Given the description of an element on the screen output the (x, y) to click on. 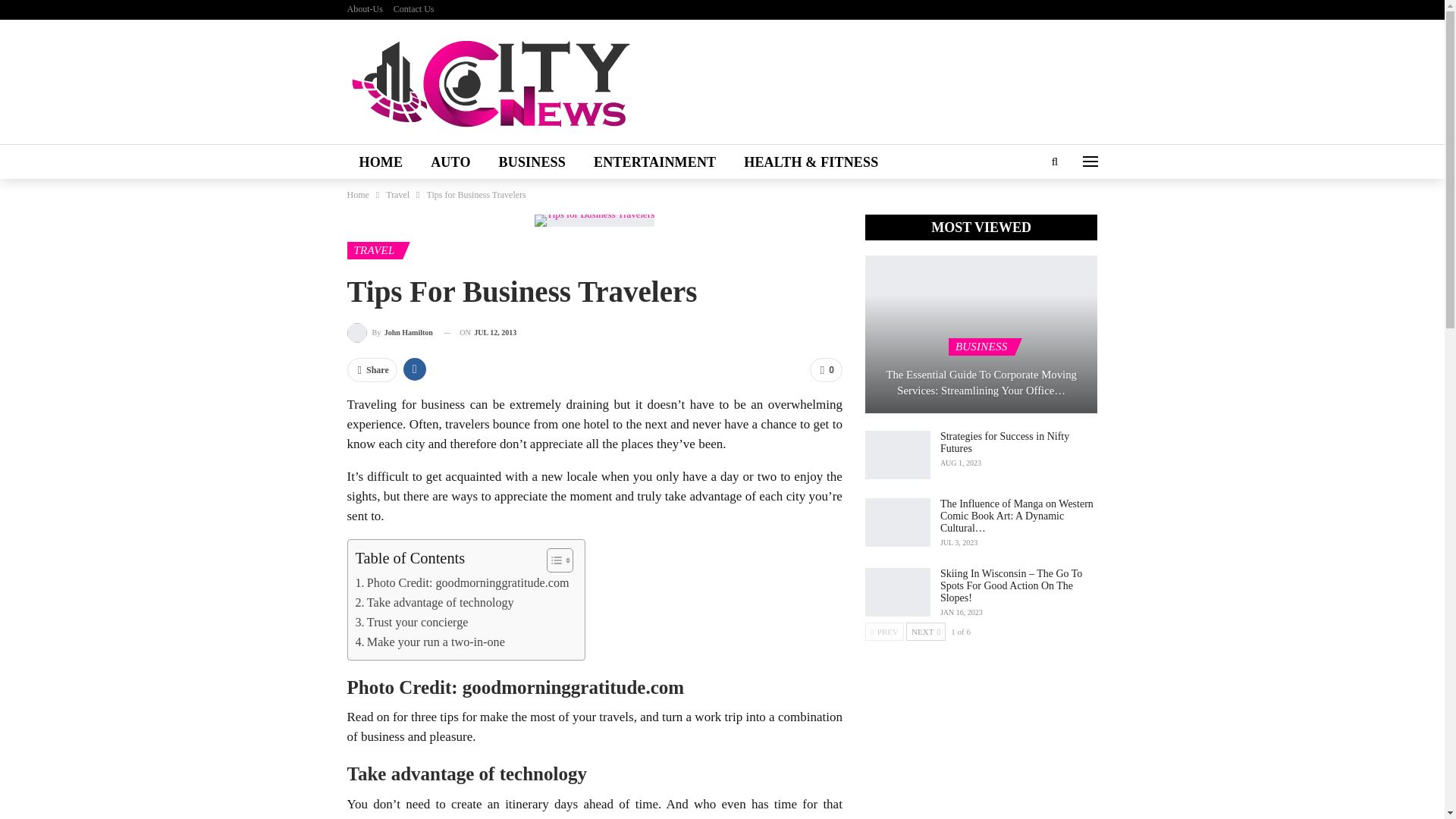
By John Hamilton (389, 332)
AUTO (450, 162)
Browse Author Articles (389, 332)
Travel (397, 194)
HOME (380, 162)
Trust your concierge (411, 622)
About-Us (364, 9)
Take advantage of technology (434, 602)
ENTERTAINMENT (654, 162)
Trust your concierge (411, 622)
Make your run a two-in-one (429, 641)
Contact Us (413, 9)
Photo Credit: goodmorninggratitude.com (462, 582)
Take advantage of technology (434, 602)
Photo Credit: goodmorninggratitude.com (462, 582)
